Given the description of an element on the screen output the (x, y) to click on. 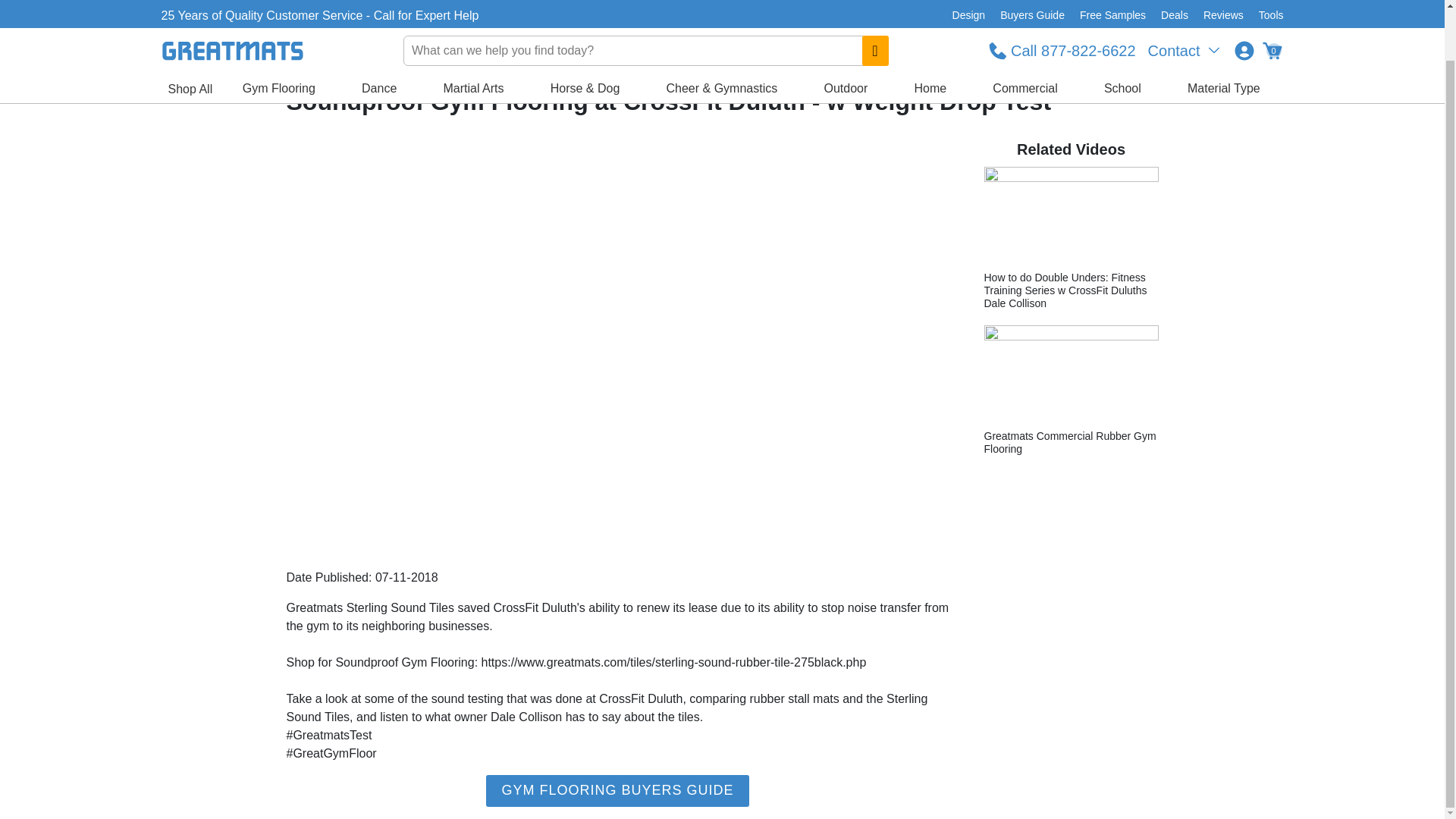
Call 877-822-6622 (1061, 4)
Greatmats (302, 64)
0 (1271, 4)
Contact (1184, 4)
Shop All (189, 35)
